Given the description of an element on the screen output the (x, y) to click on. 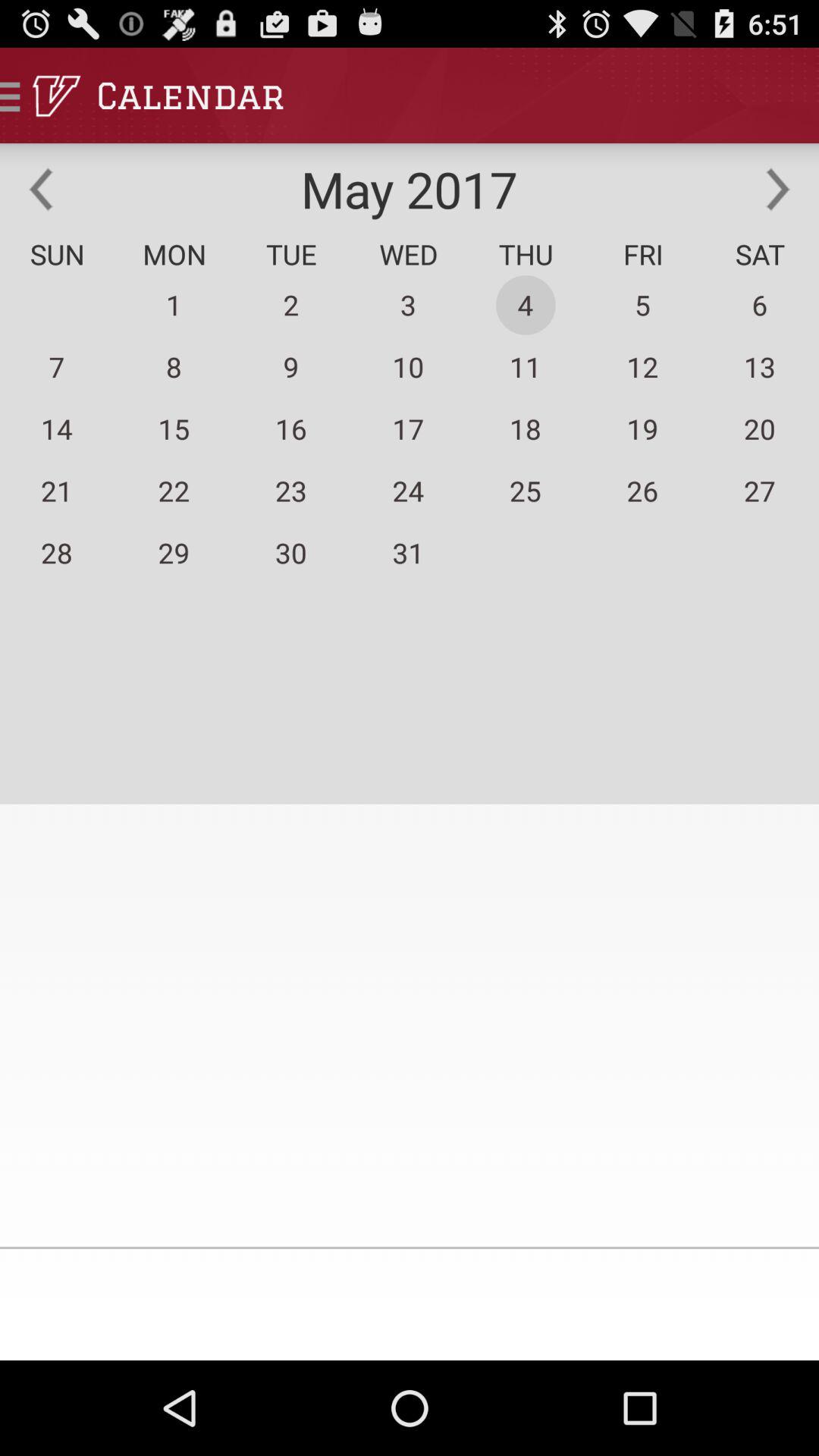
go to earlier time in calendar (40, 189)
